Given the description of an element on the screen output the (x, y) to click on. 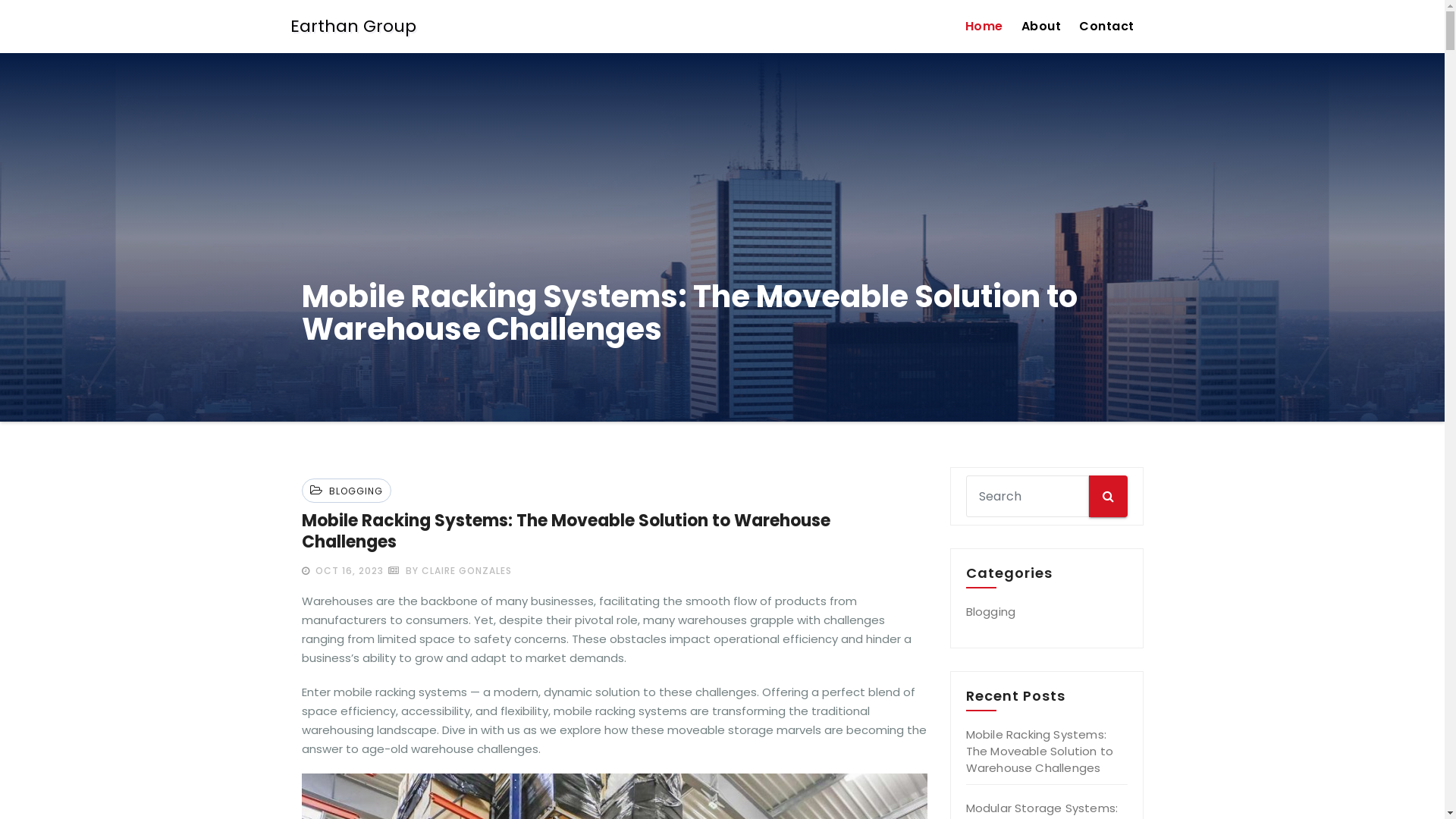
Home Element type: text (983, 26)
Contact Element type: text (1106, 26)
Earthan Group Element type: text (352, 26)
BY CLAIRE GONZALES Element type: text (449, 570)
BLOGGING Element type: text (353, 490)
OCT 16, 2023 Element type: text (347, 570)
Blogging Element type: text (991, 611)
About Element type: text (1040, 26)
